Given the description of an element on the screen output the (x, y) to click on. 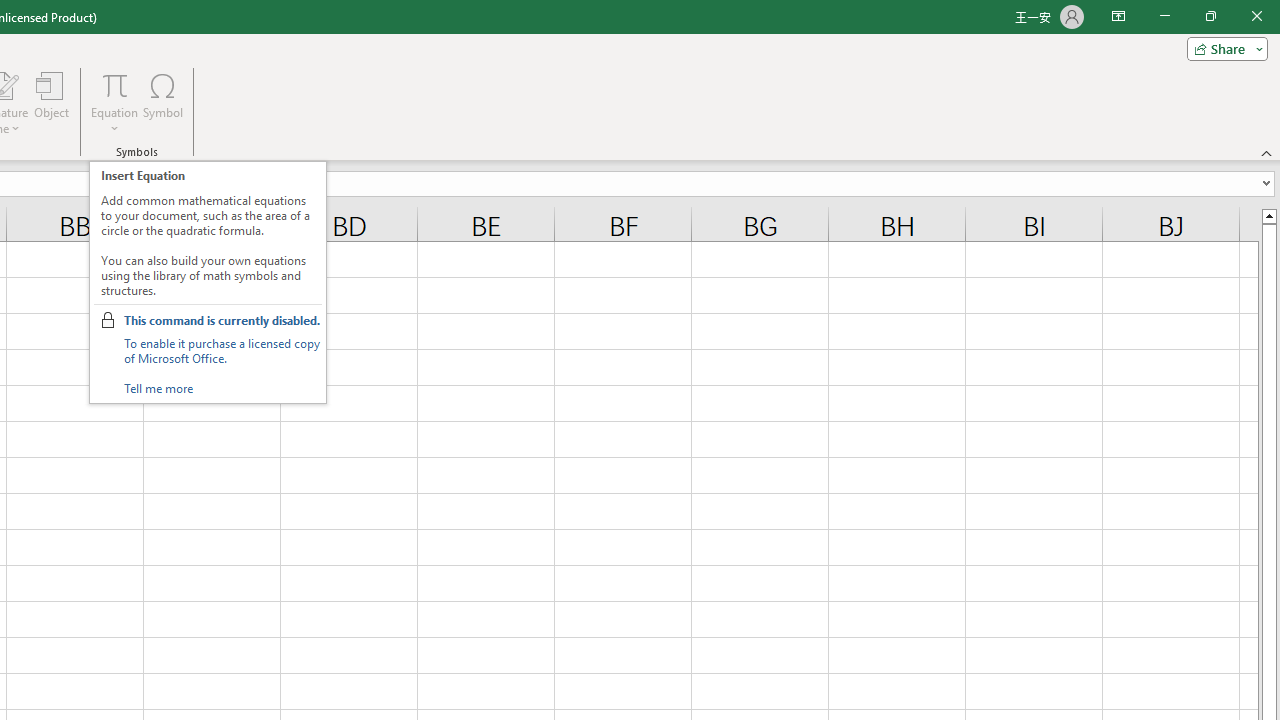
Symbol... (162, 102)
This command is currently disabled. (221, 320)
Object... (51, 102)
